Given the description of an element on the screen output the (x, y) to click on. 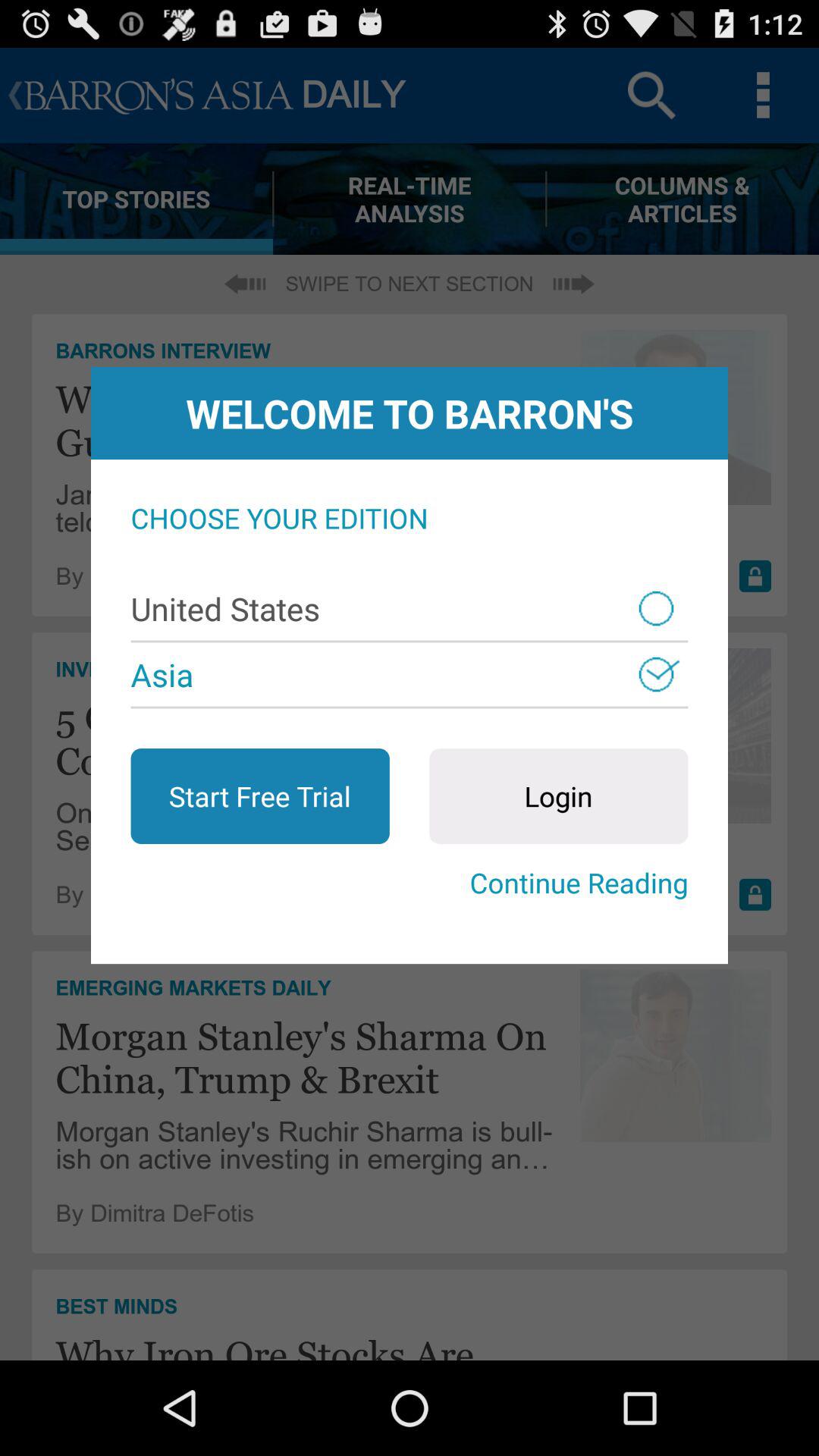
scroll until login (558, 796)
